Given the description of an element on the screen output the (x, y) to click on. 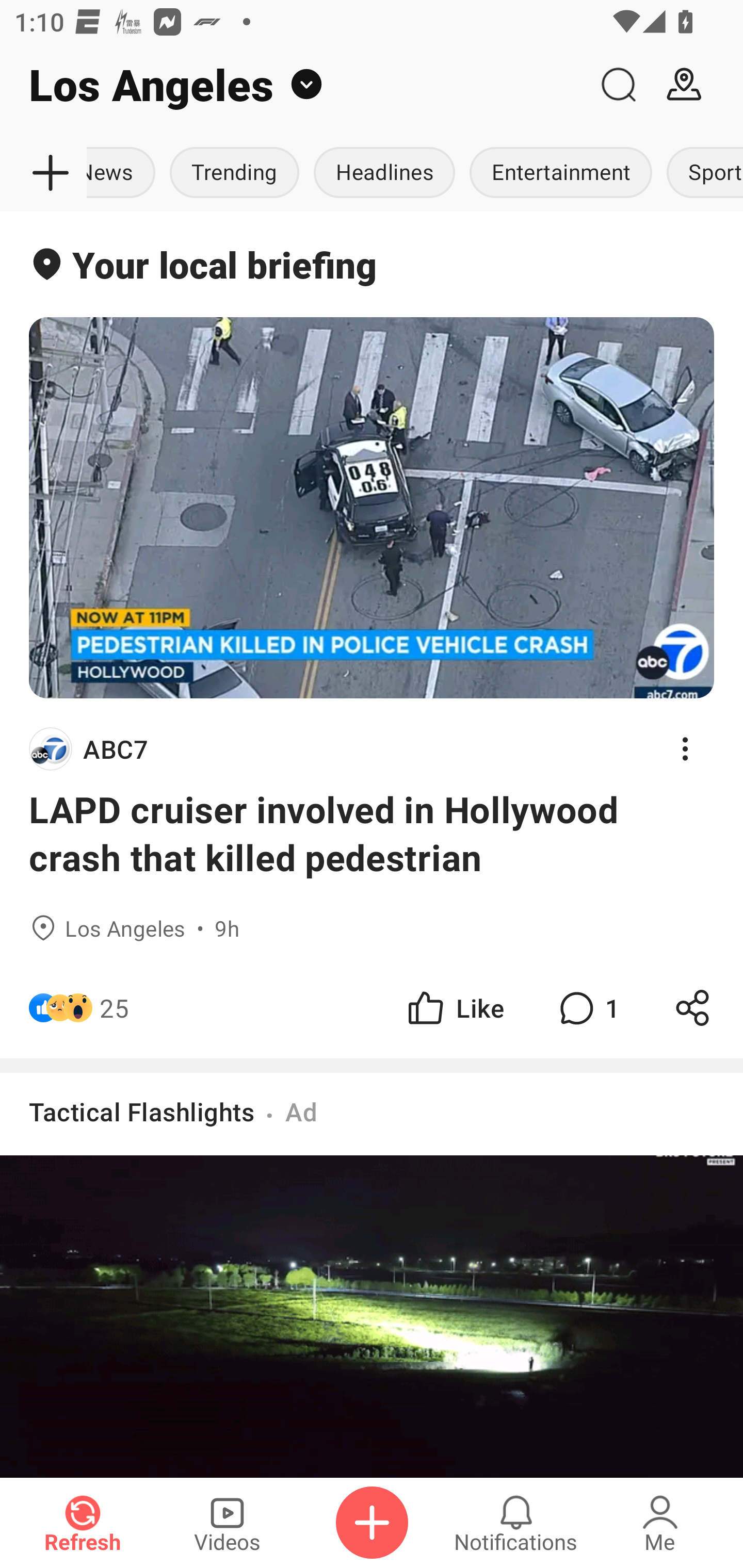
Los Angeles (292, 84)
Trending (234, 172)
Headlines (384, 172)
Entertainment (560, 172)
25 (114, 1007)
Like (454, 1007)
1 (587, 1007)
Tactical Flashlights (141, 1111)
Videos (227, 1522)
Notifications (516, 1522)
Me (659, 1522)
